Given the description of an element on the screen output the (x, y) to click on. 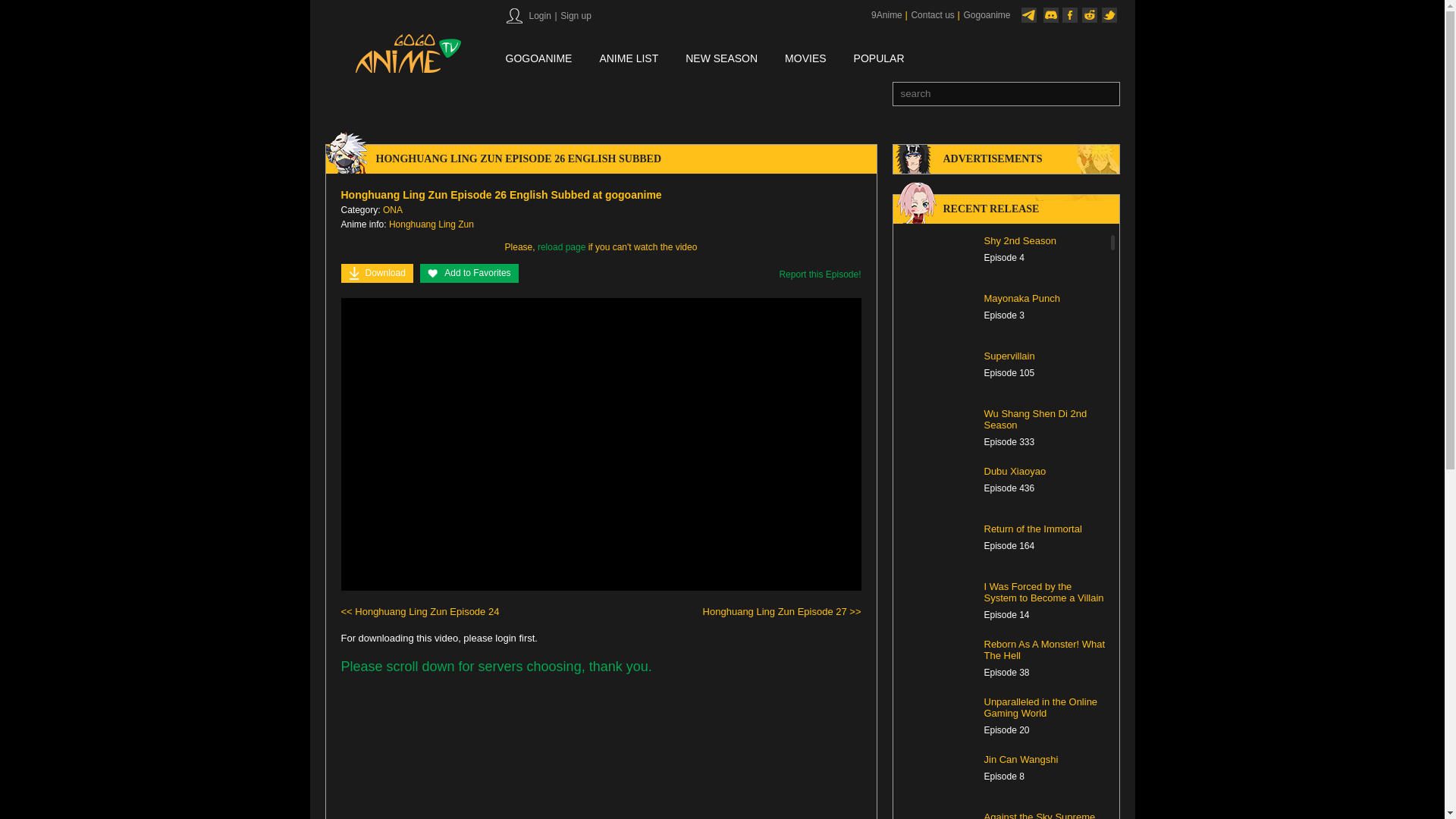
New season (721, 59)
login (538, 15)
Movies (804, 59)
Gogoanime (986, 14)
gogoanime (538, 59)
Anime list (628, 59)
MOVIES (804, 59)
9Anime (886, 14)
NEW SEASON (721, 59)
Login (538, 15)
Popular (878, 59)
ANIME LIST (628, 59)
GOGOANIME (538, 59)
Sign up (575, 15)
Sign up (575, 15)
